Given the description of an element on the screen output the (x, y) to click on. 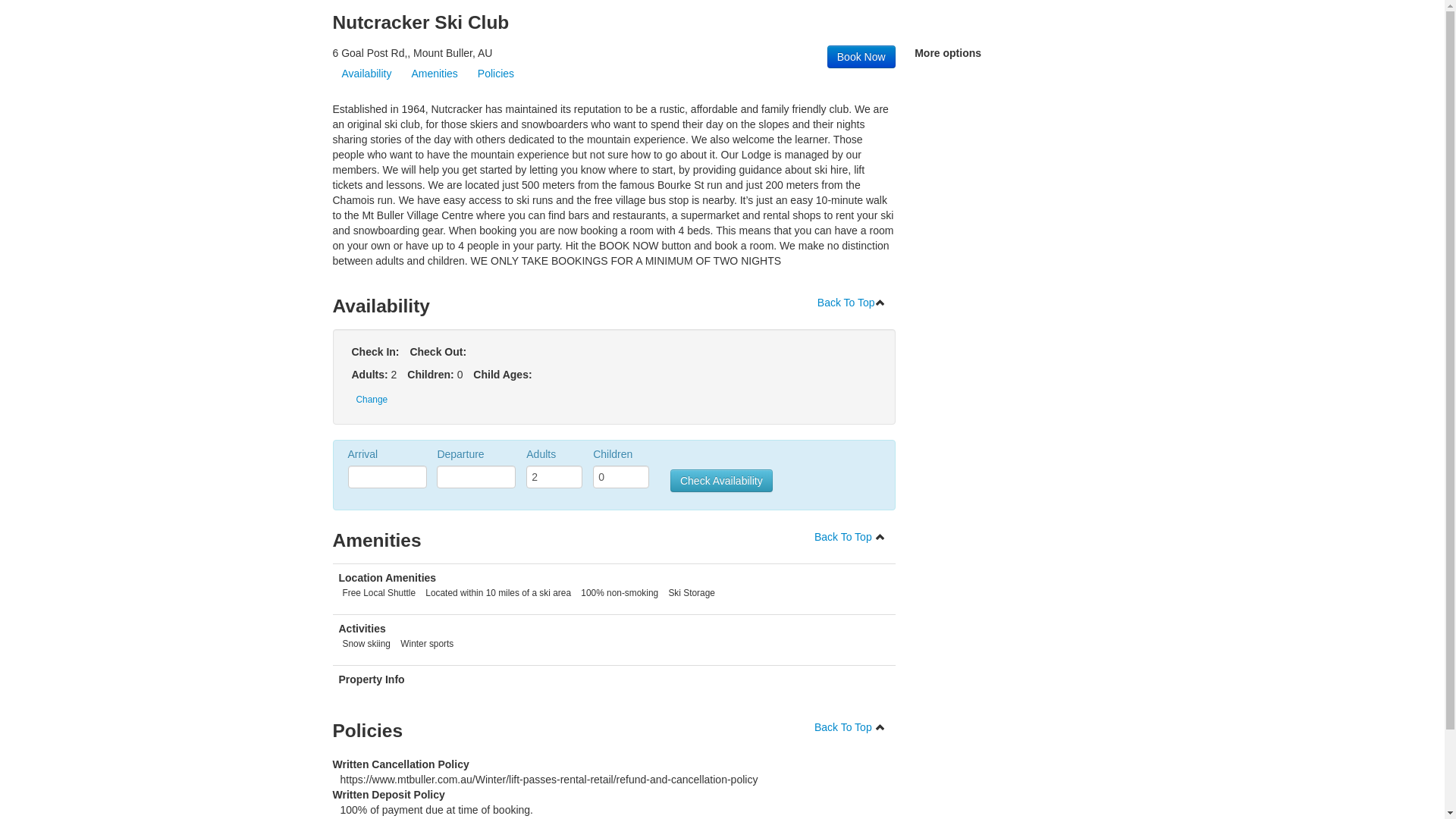
Book Now Element type: text (861, 56)
Availability Element type: text (366, 73)
Back To Top Element type: text (851, 302)
Policies Element type: text (495, 73)
Change Element type: text (371, 399)
Back To Top Element type: text (849, 536)
Amenities Element type: text (433, 73)
Back To Top Element type: text (849, 726)
Check Availability Element type: text (721, 480)
